Given the description of an element on the screen output the (x, y) to click on. 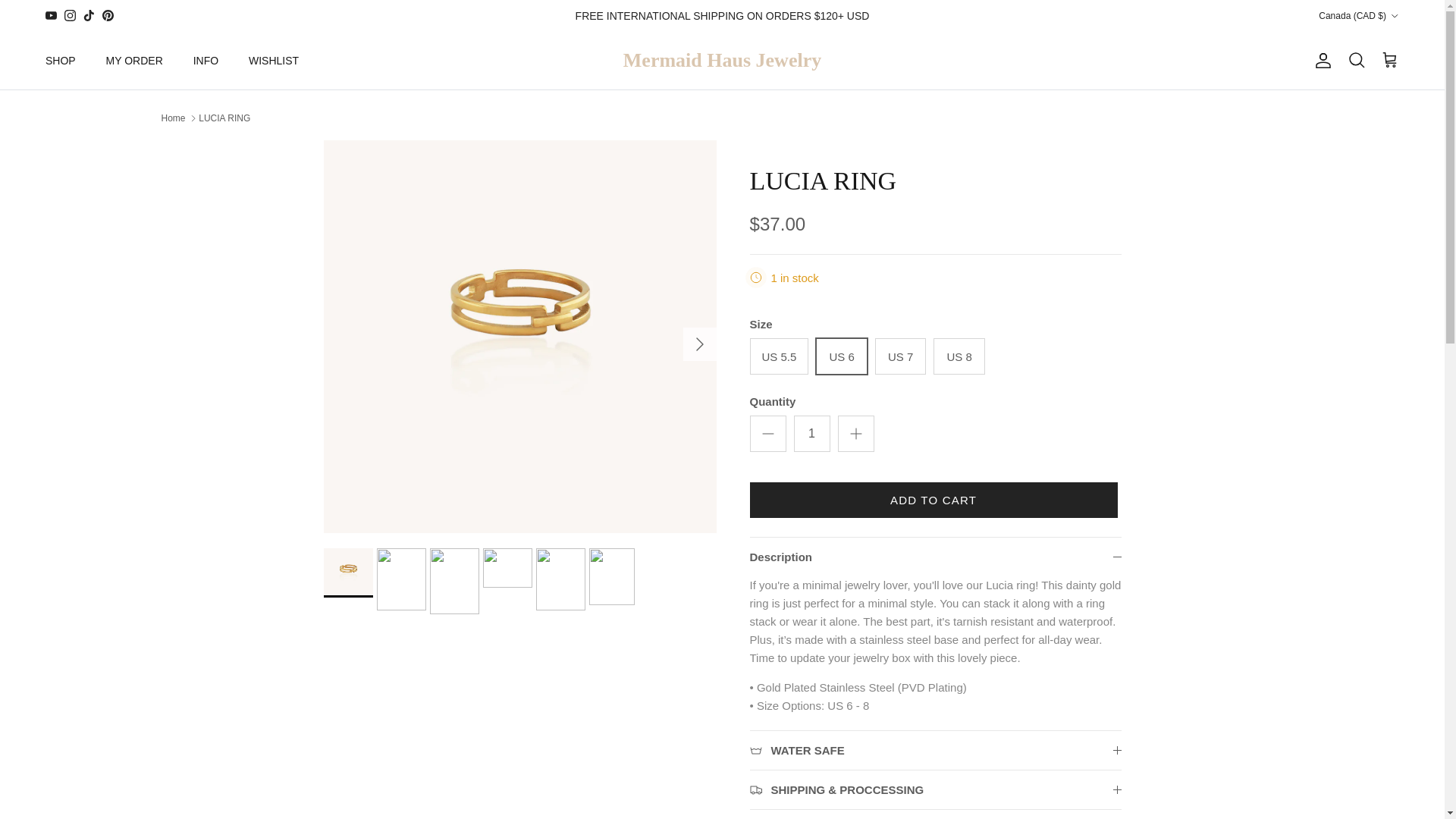
Pinterest (107, 15)
Mermaid Haus Jewelry on TikTok (88, 15)
SHOP (60, 60)
MY ORDER (134, 60)
Account (1319, 60)
Mermaid Haus Jewelry (722, 60)
INFO (205, 60)
Mermaid Haus Jewelry (722, 60)
Cart (1389, 60)
Instagram (69, 15)
